Given the description of an element on the screen output the (x, y) to click on. 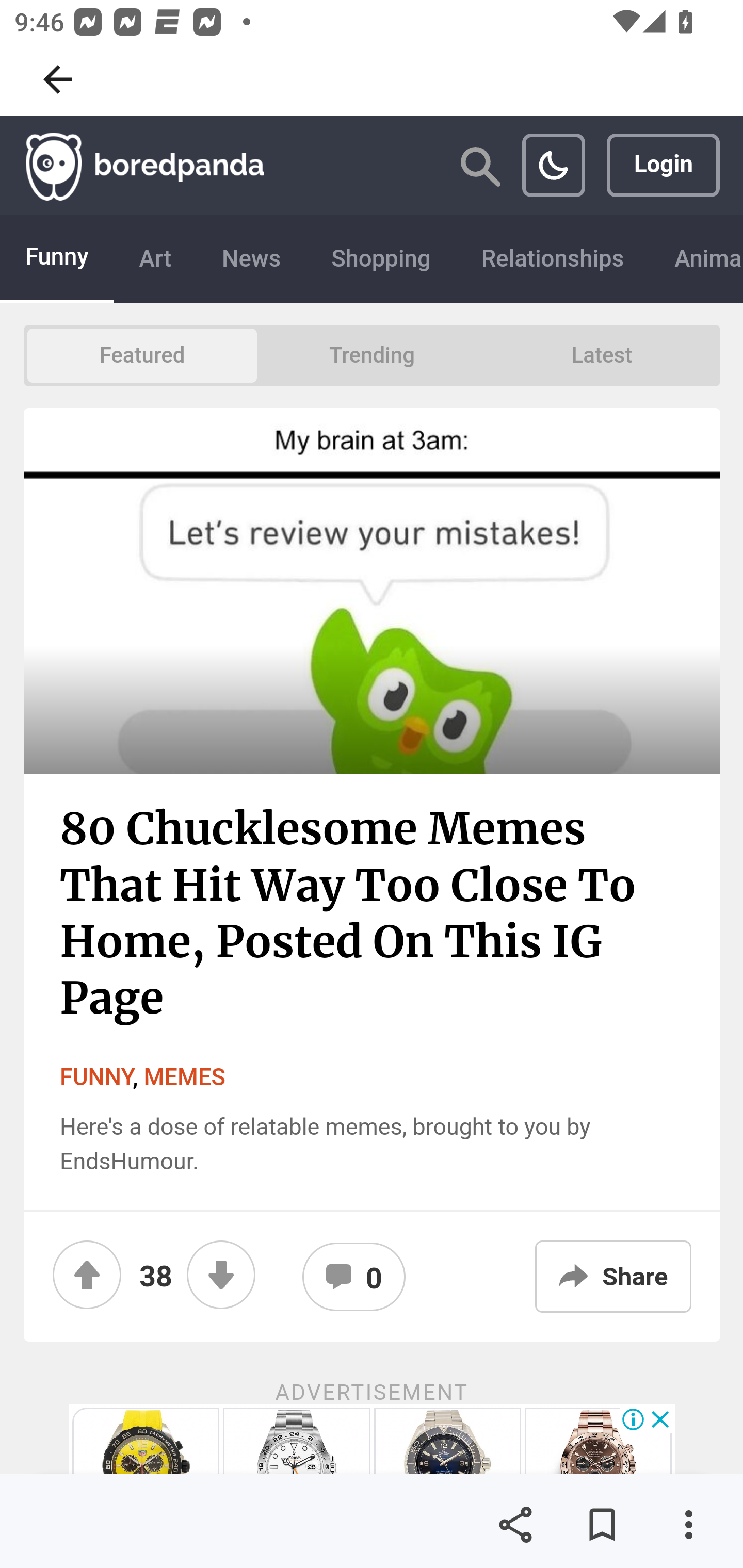
Navigate up (57, 79)
BoredPanda (144, 166)
Login (663, 166)
javascript:void(0); (553, 165)
Search (480, 160)
Funny (57, 258)
Art (155, 259)
News (250, 259)
Shopping (380, 259)
Relationships (552, 259)
Featured (141, 355)
Trending (371, 355)
Latest (601, 355)
FUNNY (95, 1077)
MEMES (184, 1077)
Vote arrow up (86, 1275)
Vote arrow down (220, 1275)
Share icon Share Share icon Share (613, 1276)
Open list comments 0 Open list comments 0 (353, 1276)
Share (514, 1524)
Save for later (601, 1524)
More options (688, 1524)
